Given the description of an element on the screen output the (x, y) to click on. 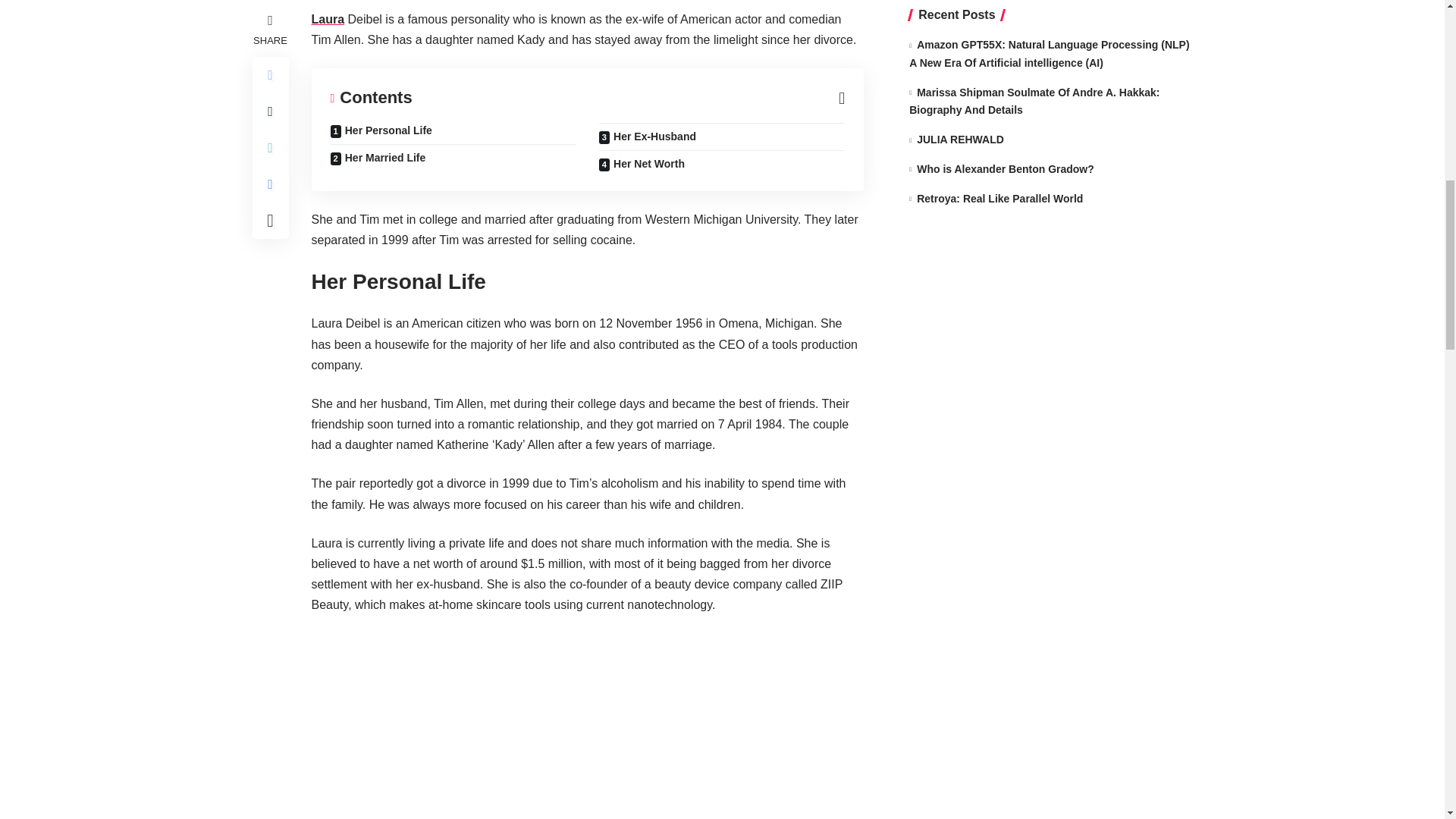
Her Married Life (453, 157)
Laura (327, 19)
Her Personal Life (453, 133)
